Given the description of an element on the screen output the (x, y) to click on. 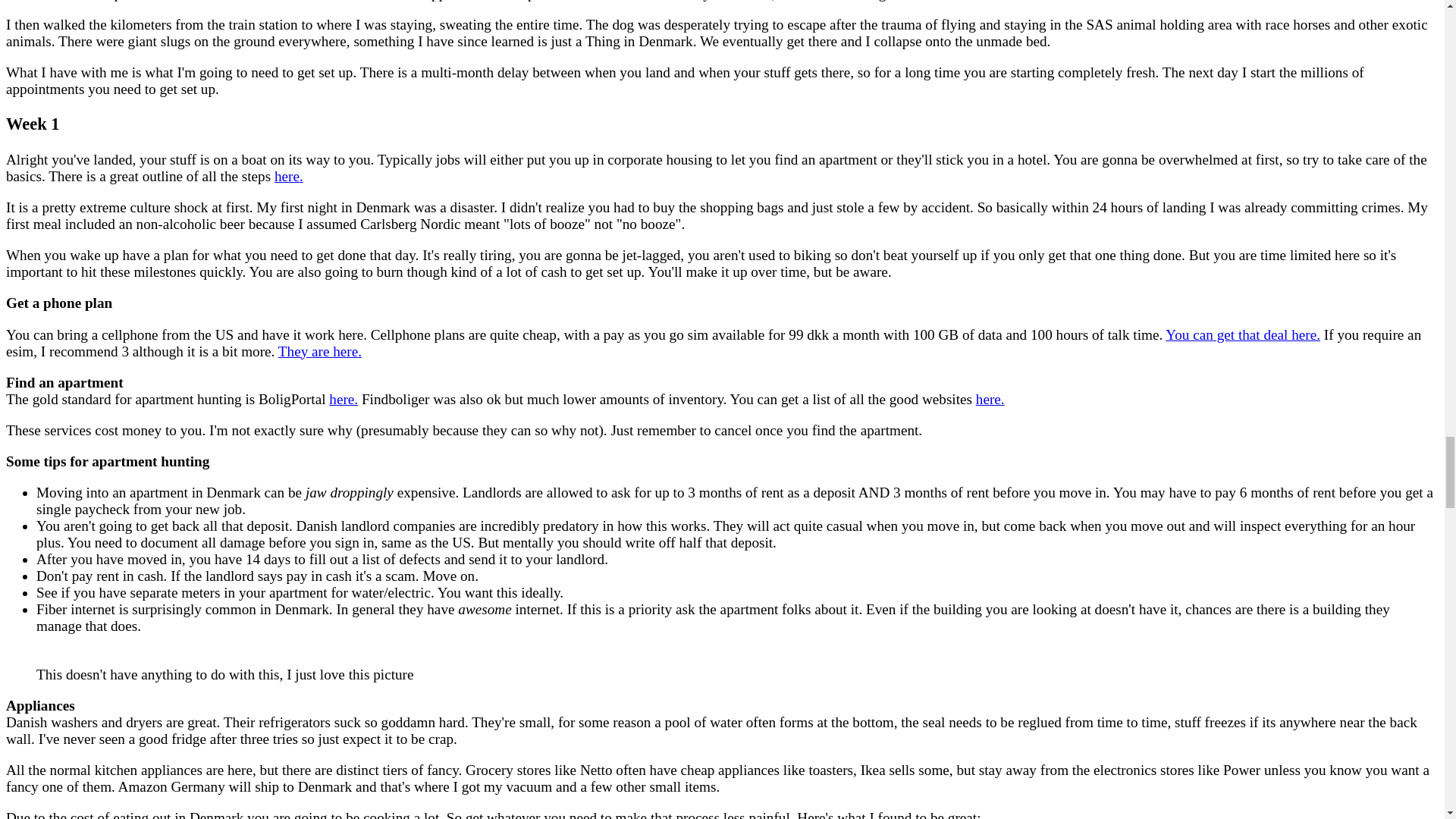
here. (989, 399)
here. (288, 176)
You can get that deal here. (1243, 334)
here. (343, 399)
They are here. (319, 351)
